Given the description of an element on the screen output the (x, y) to click on. 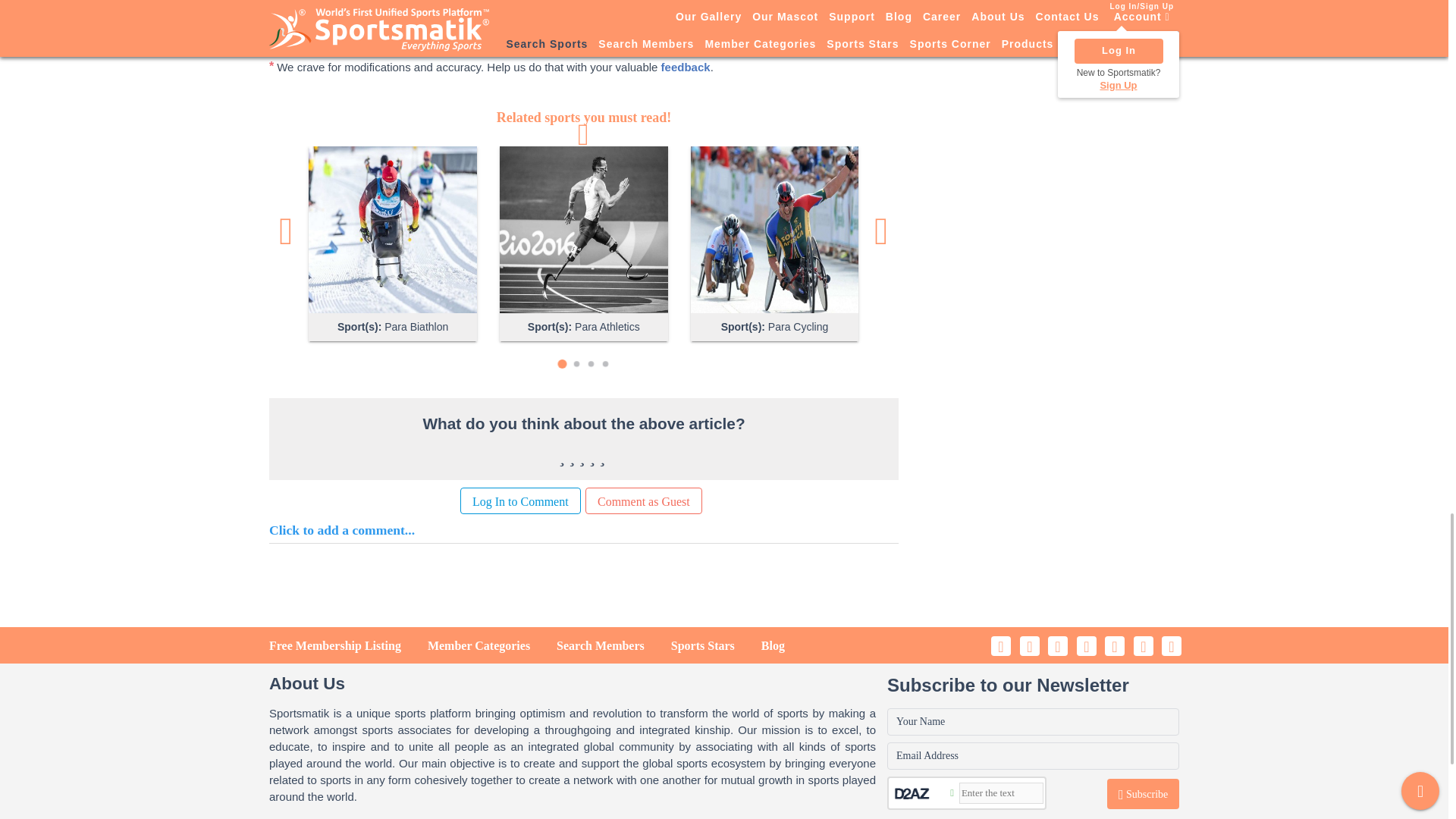
Comment as Guest (643, 500)
Log In to comment (520, 500)
